Given the description of an element on the screen output the (x, y) to click on. 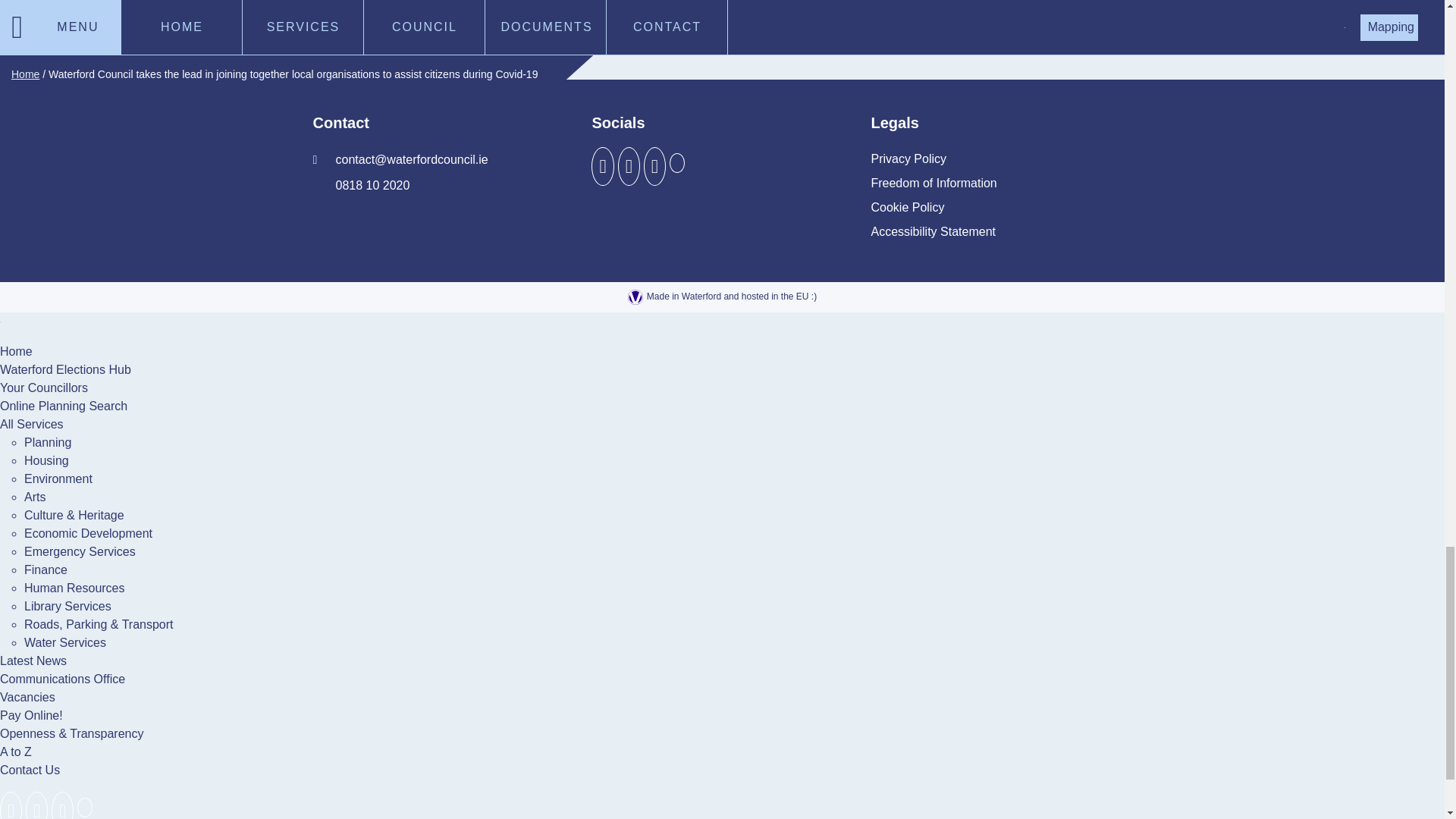
0818 10 2020 (361, 185)
Accessibility Statement (932, 232)
Freedom of Information (932, 183)
Cookie Policy (906, 207)
Privacy Policy (908, 159)
